Given the description of an element on the screen output the (x, y) to click on. 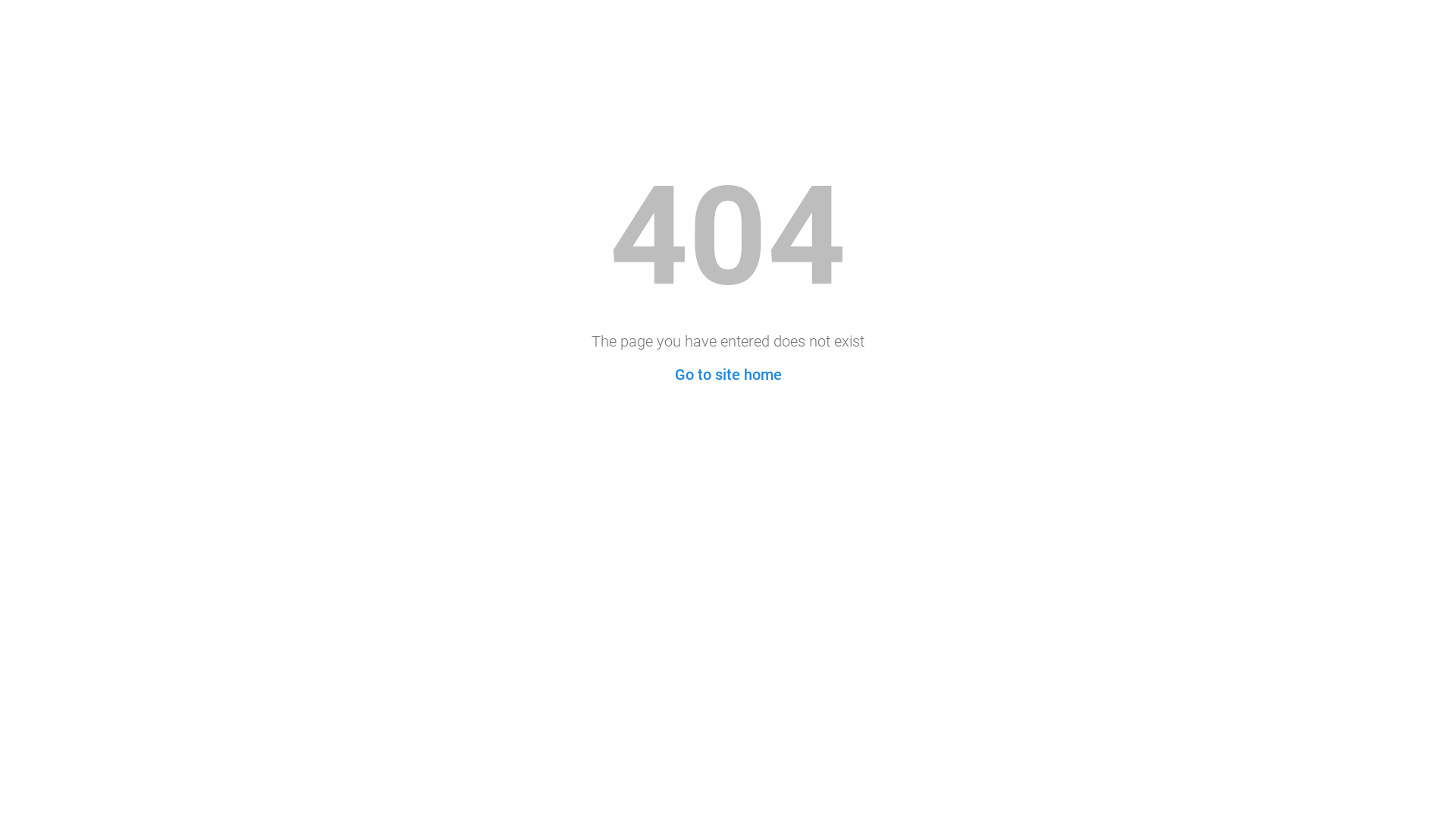
Go to site home Element type: text (727, 374)
